Given the description of an element on the screen output the (x, y) to click on. 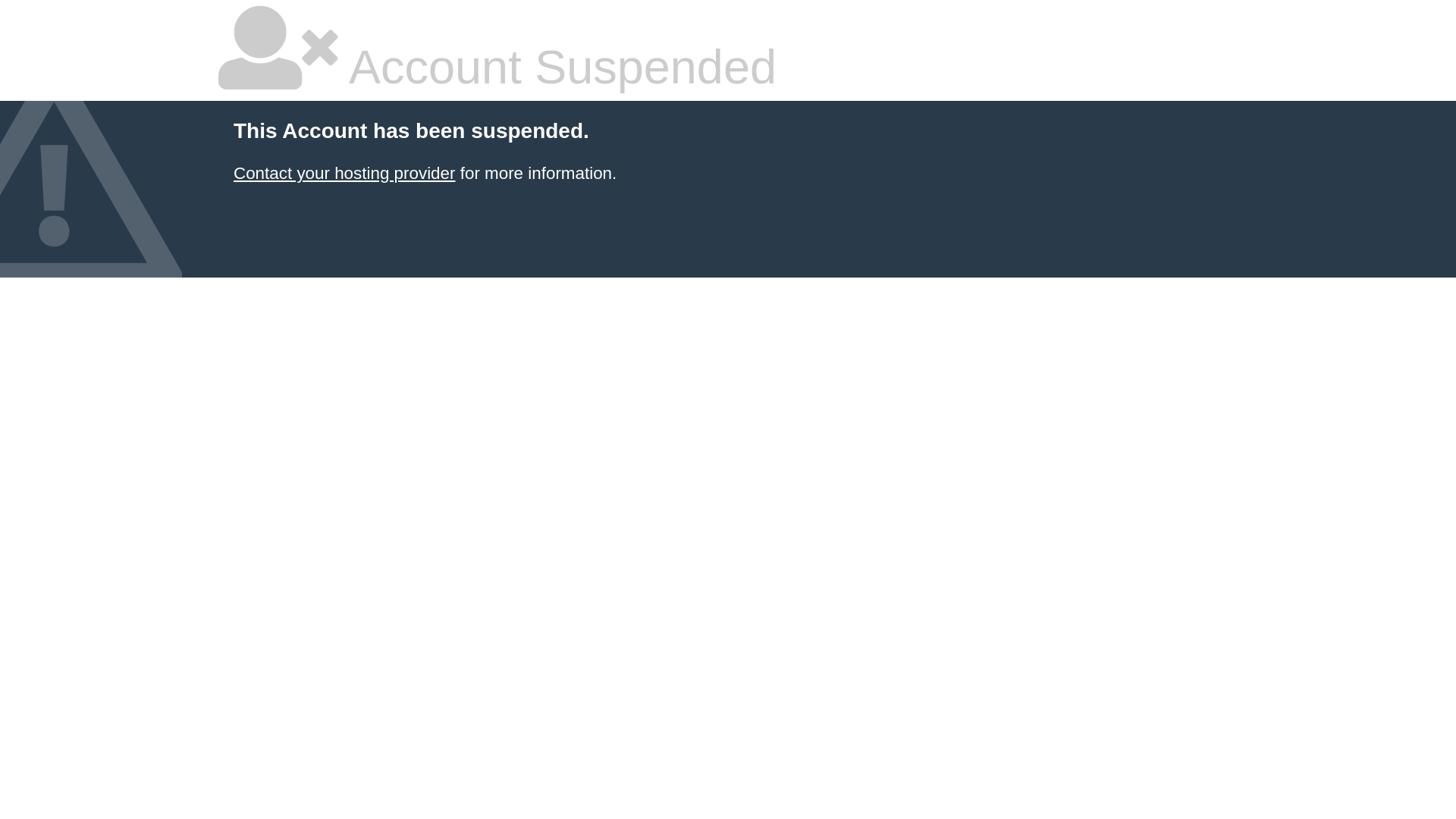
Contact your hosting provider Element type: text (344, 172)
